Given the description of an element on the screen output the (x, y) to click on. 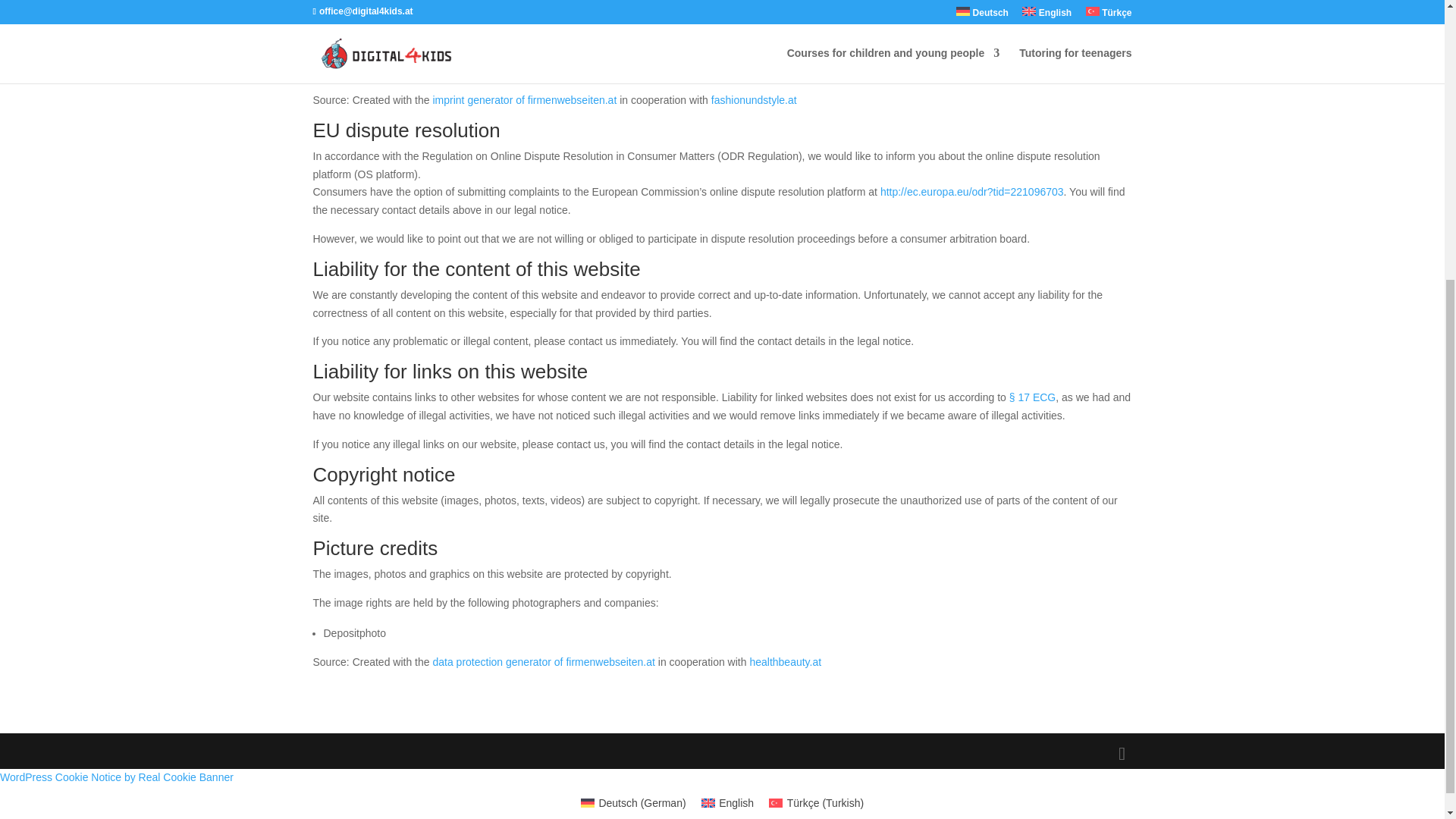
imprint generator of firmenwebseiten.at (523, 100)
Imprint Generator from firmenwebseiten.at (523, 100)
healthbeauty.at (785, 662)
fashionundstyle.at (753, 100)
WordPress Cookie Notice by Real Cookie Banner (116, 776)
Data protection generator from firmenwebseiten.at (542, 662)
English (727, 803)
data protection generator of firmenwebseiten.at (542, 662)
